Given the description of an element on the screen output the (x, y) to click on. 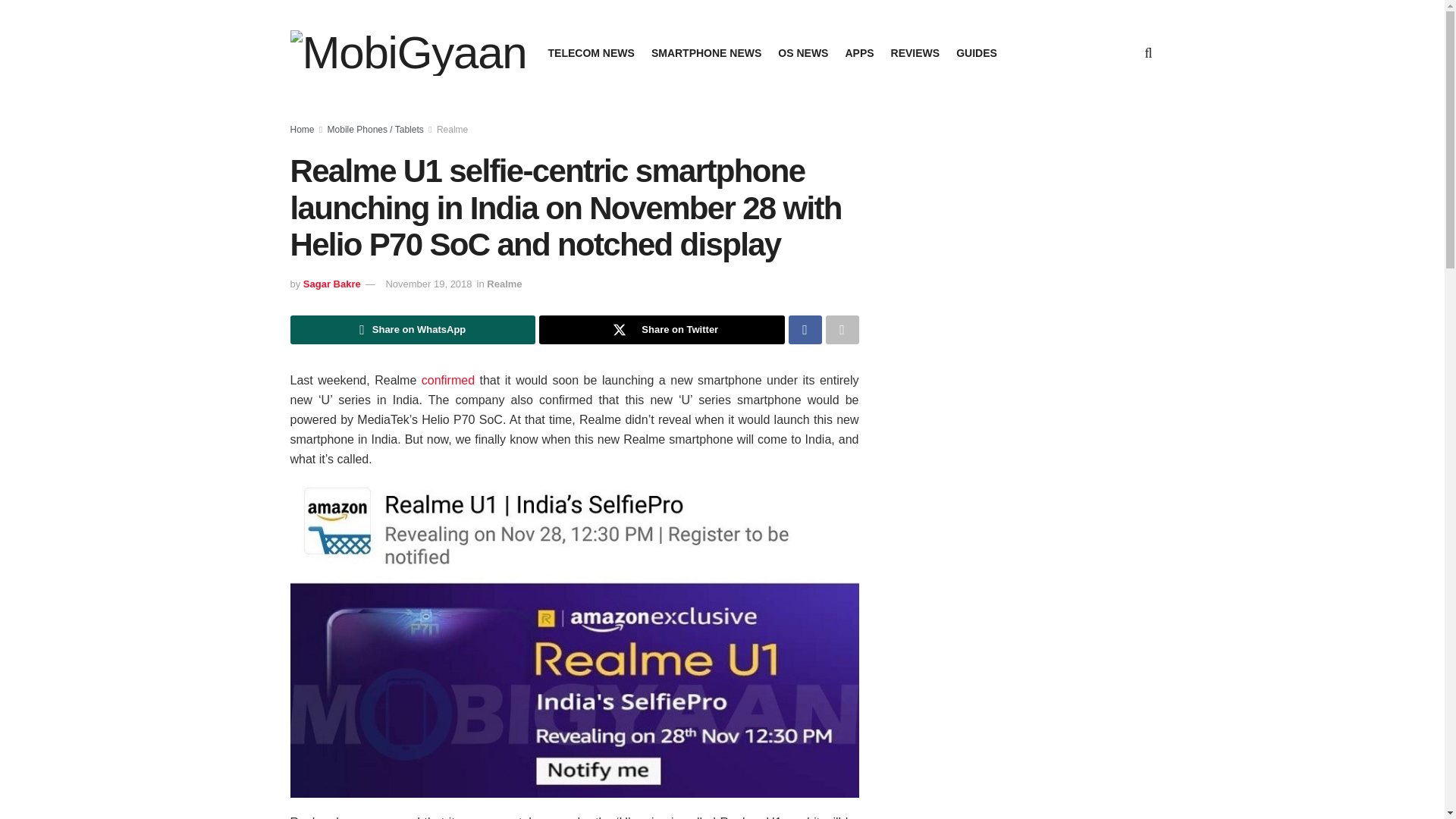
Realme (503, 283)
Sagar Bakre (331, 283)
GUIDES (976, 52)
OS NEWS (802, 52)
Home (301, 129)
TELECOM NEWS (591, 52)
APPS (858, 52)
November 19, 2018 (428, 283)
REVIEWS (915, 52)
